Given the description of an element on the screen output the (x, y) to click on. 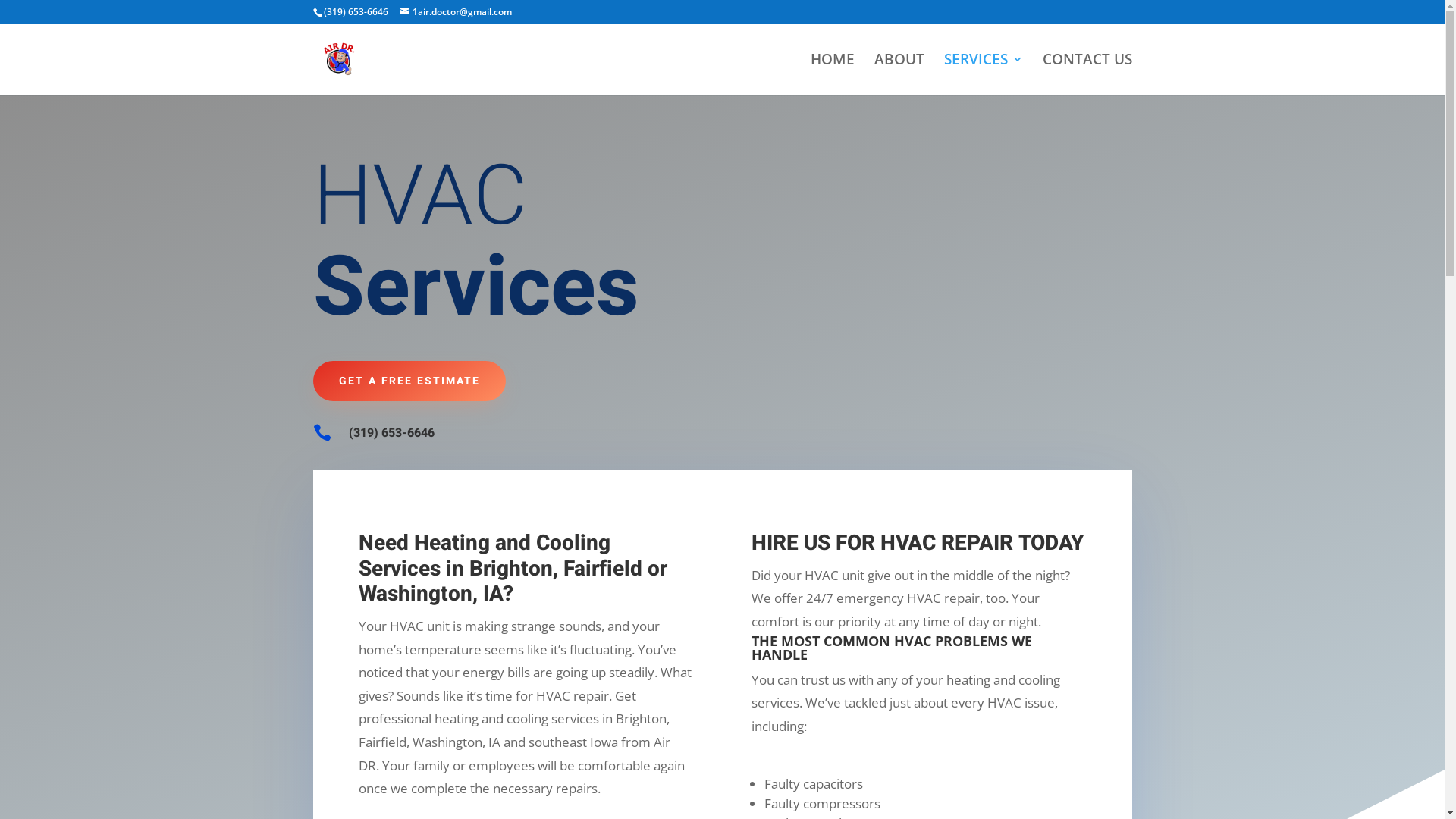
ABOUT Element type: text (898, 73)
HOME Element type: text (831, 73)
1air.doctor@gmail.com Element type: text (455, 11)
SERVICES Element type: text (982, 73)
CONTACT US Element type: text (1086, 73)
GET A FREE ESTIMATE Element type: text (408, 380)
